Given the description of an element on the screen output the (x, y) to click on. 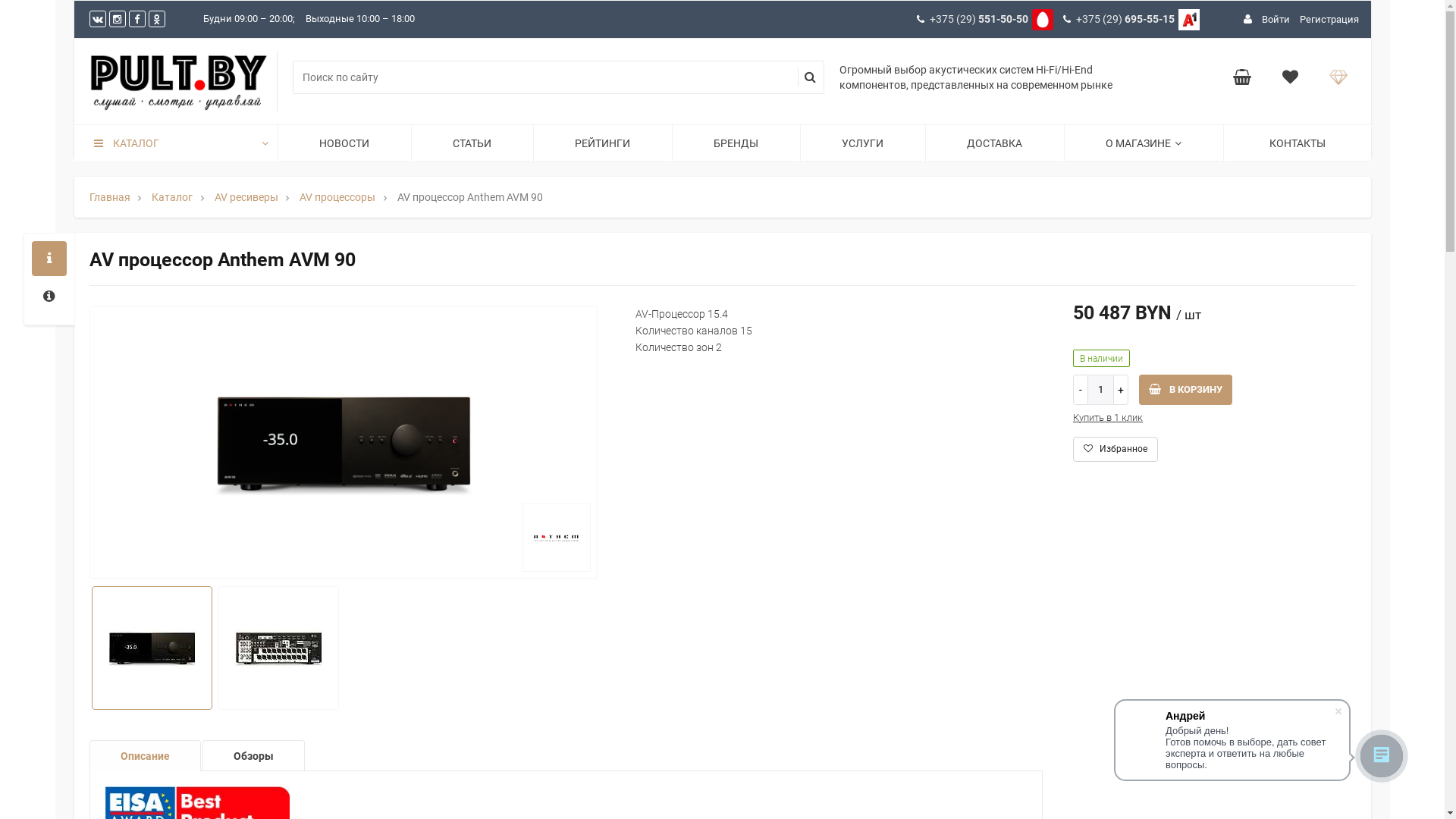
+375 (29) 551-50-50 Element type: text (987, 18)
+375 (29) 695-55-15 Element type: text (1133, 18)
Velcom Element type: hover (1188, 19)
